Given the description of an element on the screen output the (x, y) to click on. 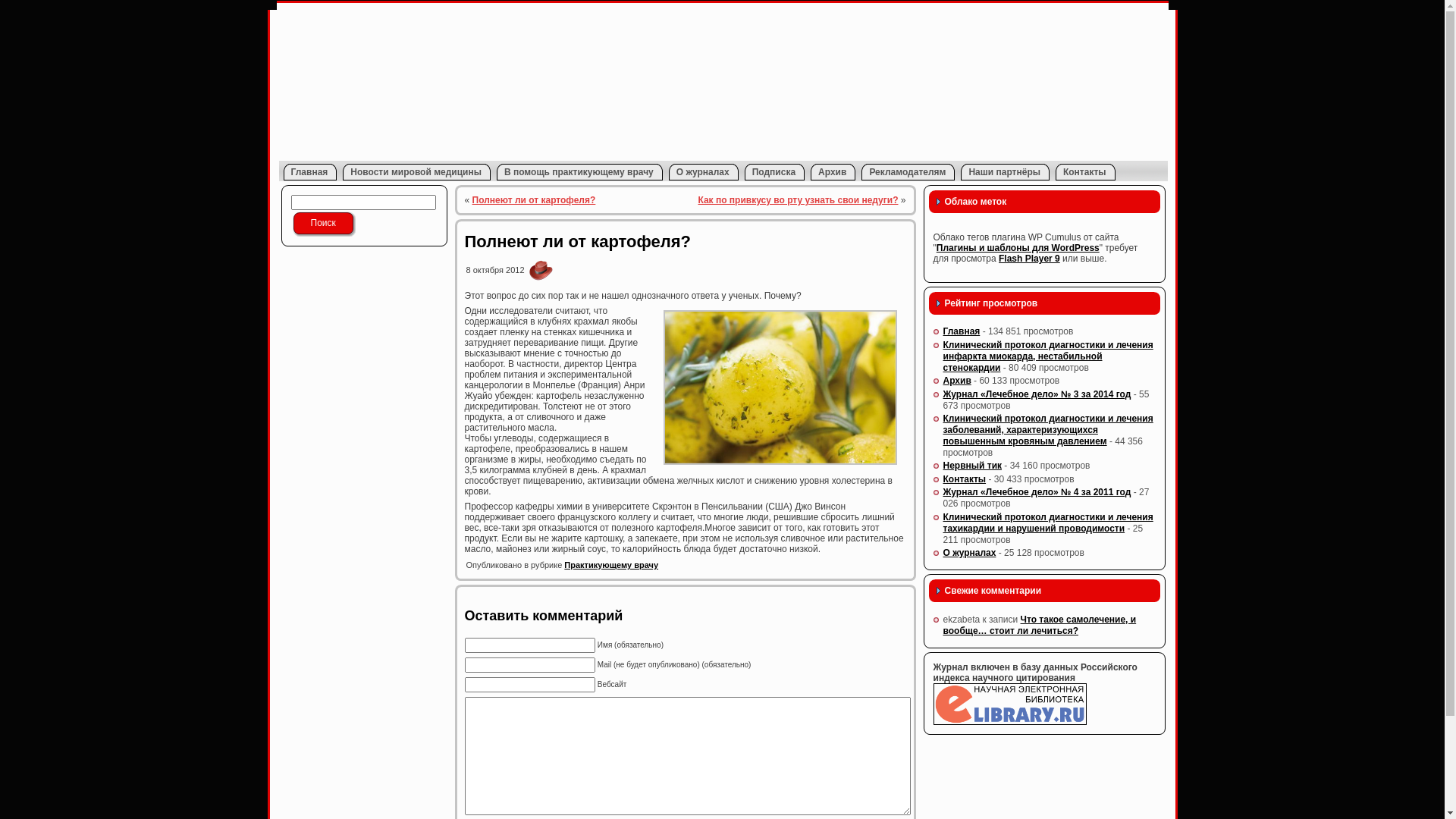
Flash Player 9 Element type: text (1029, 258)
